Given the description of an element on the screen output the (x, y) to click on. 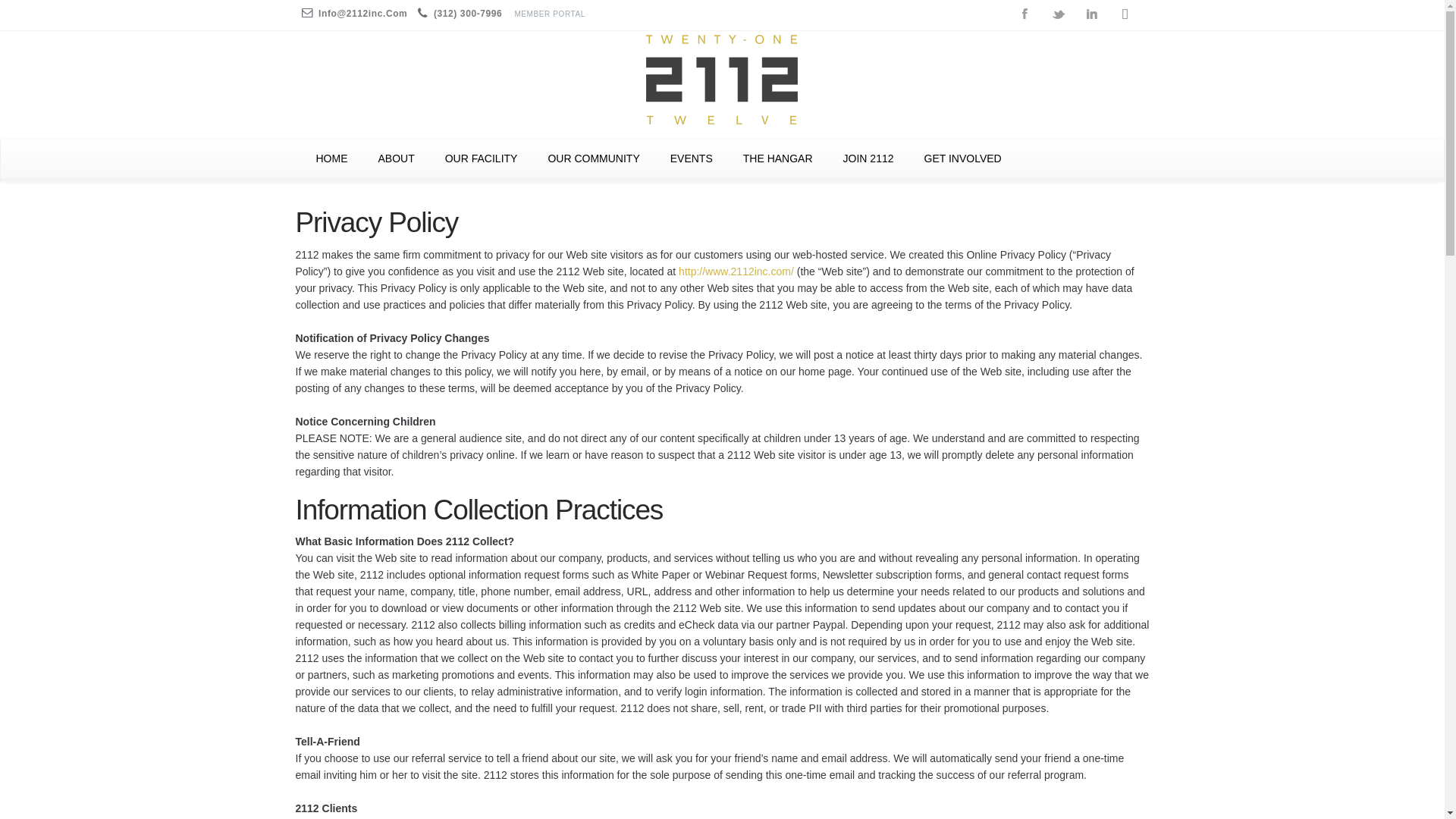
ABOUT Element type: text (395, 158)
EVENTS Element type: text (691, 158)
THE HANGAR Element type: text (778, 158)
MEMBER PORTAL Element type: text (553, 13)
http://www.2112inc.com/ Element type: text (735, 271)
JOIN 2112 Element type: text (868, 158)
OUR COMMUNITY Element type: text (593, 158)
HOME Element type: text (331, 158)
GET INVOLVED Element type: text (962, 158)
OUR FACILITY Element type: text (481, 158)
